Given the description of an element on the screen output the (x, y) to click on. 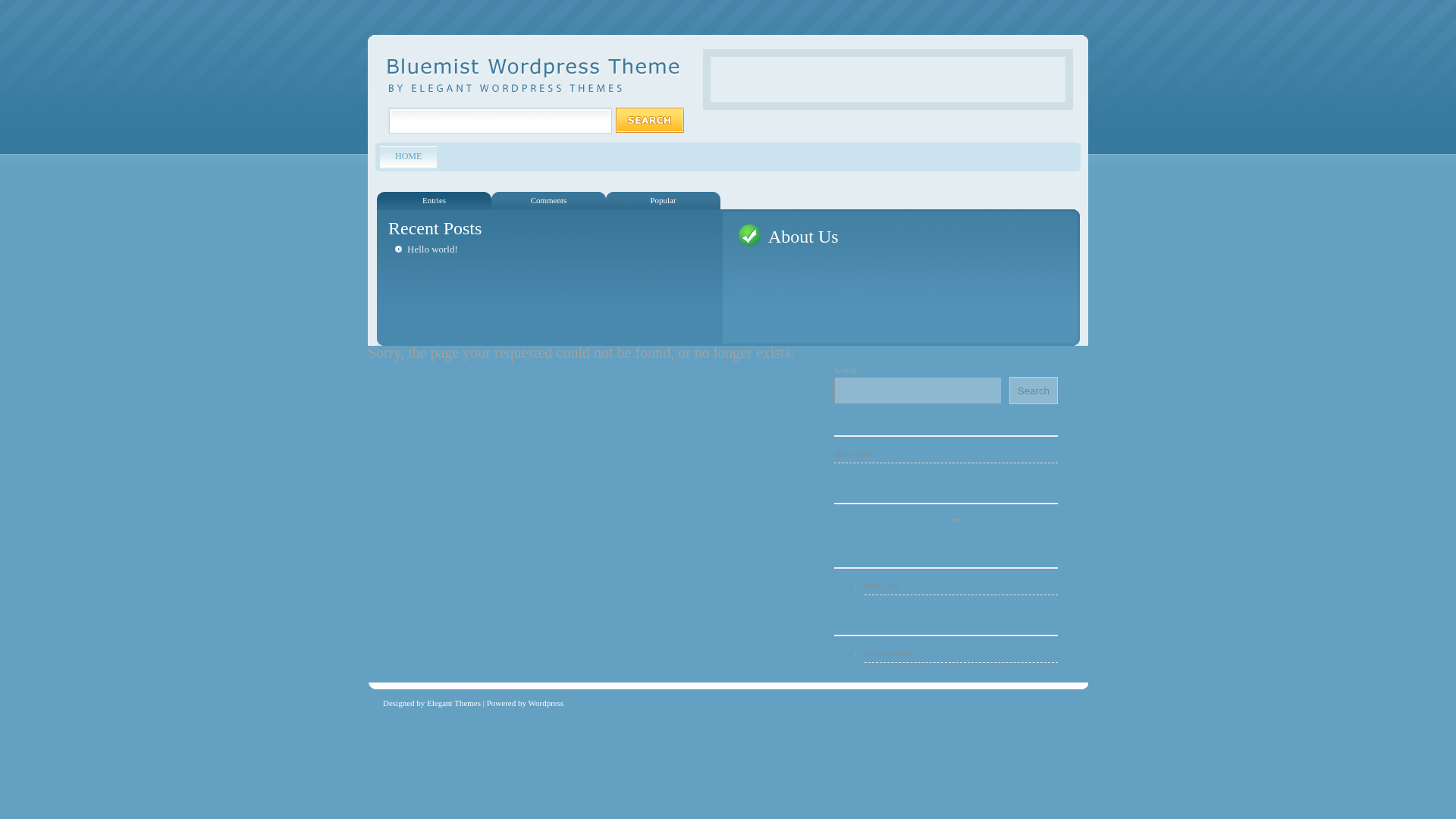
Hello world! (982, 519)
A WordPress Commenter (906, 519)
Comments (548, 200)
Hello world! (946, 454)
June 2024 (961, 586)
Uncategorized (961, 653)
Hello world! (432, 248)
Entries (434, 200)
HOME (408, 157)
Search (1033, 390)
Popular (662, 200)
submit (649, 122)
